Given the description of an element on the screen output the (x, y) to click on. 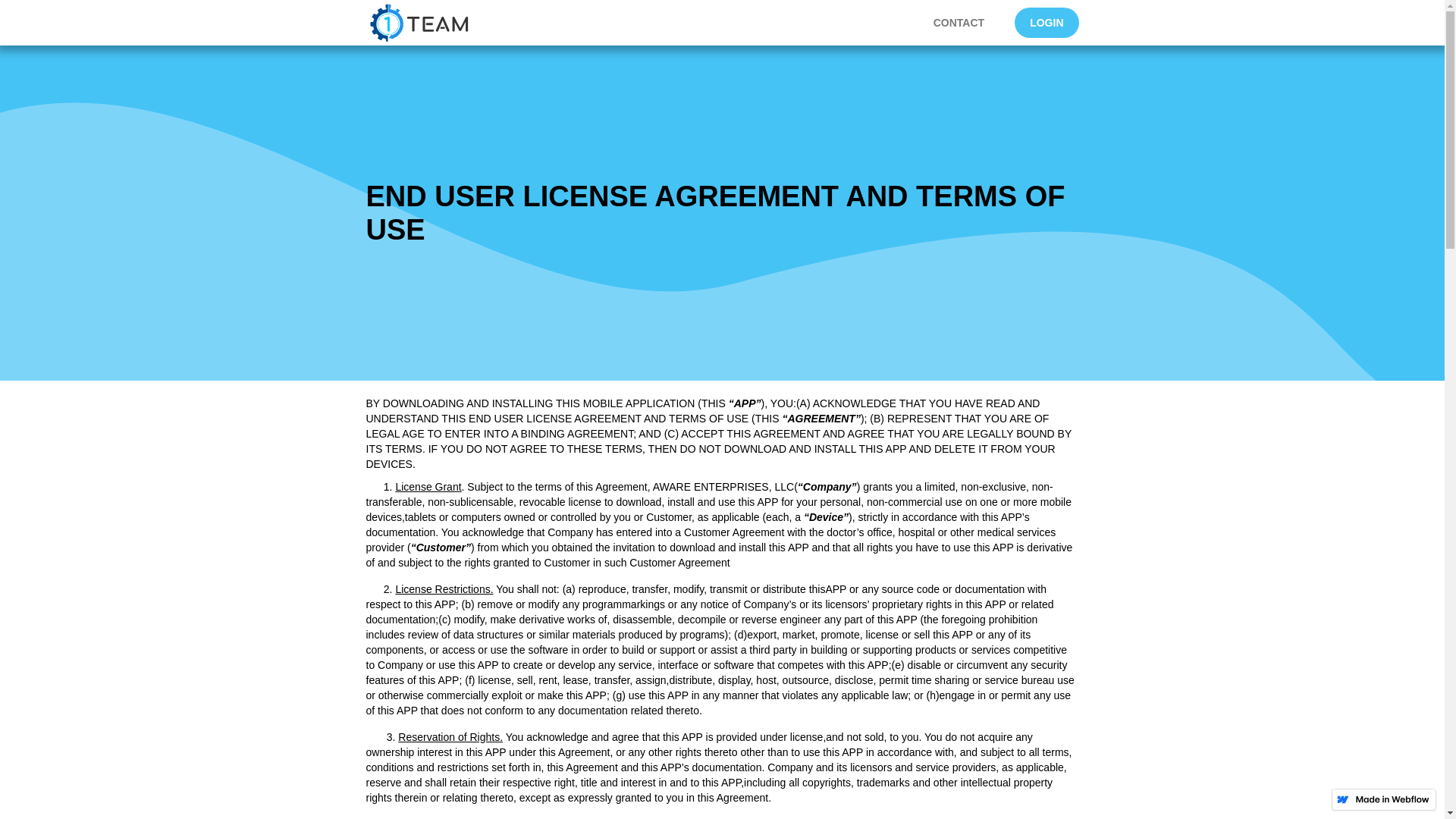
CONTACT Element type: text (958, 22)
LOGIN Element type: text (1046, 22)
